Given the description of an element on the screen output the (x, y) to click on. 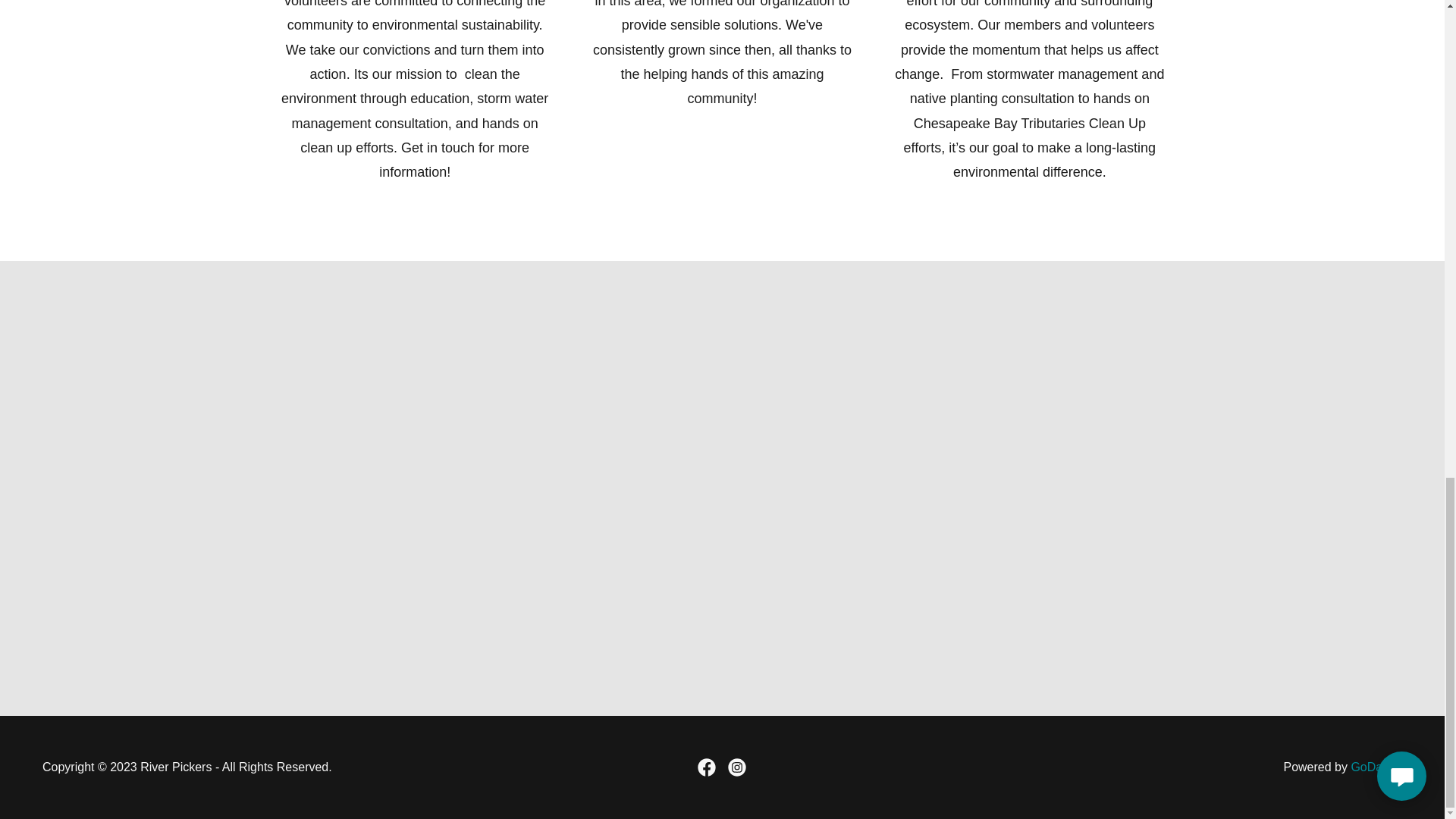
GoDaddy (1376, 766)
